Given the description of an element on the screen output the (x, y) to click on. 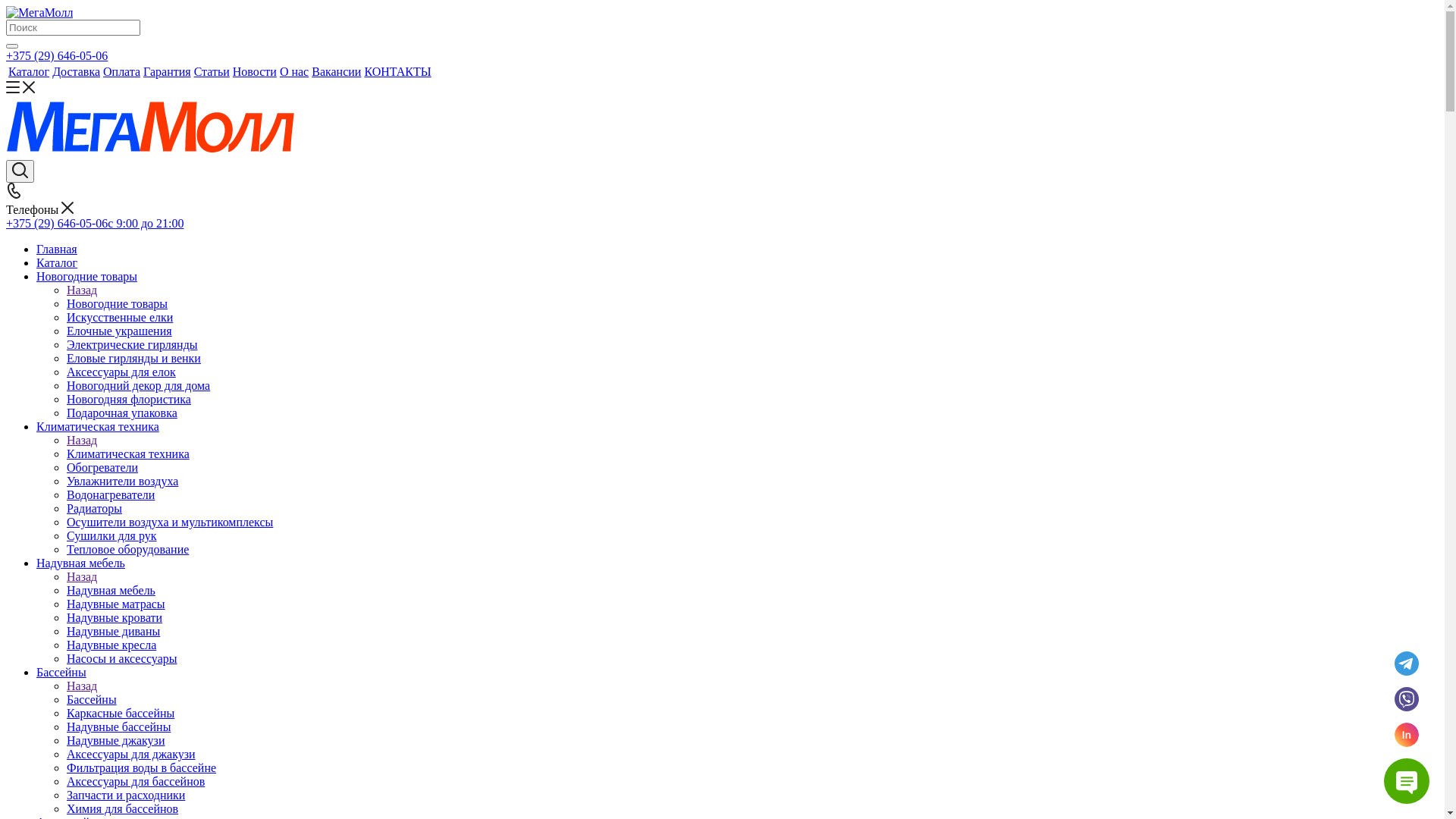
+375 (29) 646-05-06 Element type: text (56, 55)
